Given the description of an element on the screen output the (x, y) to click on. 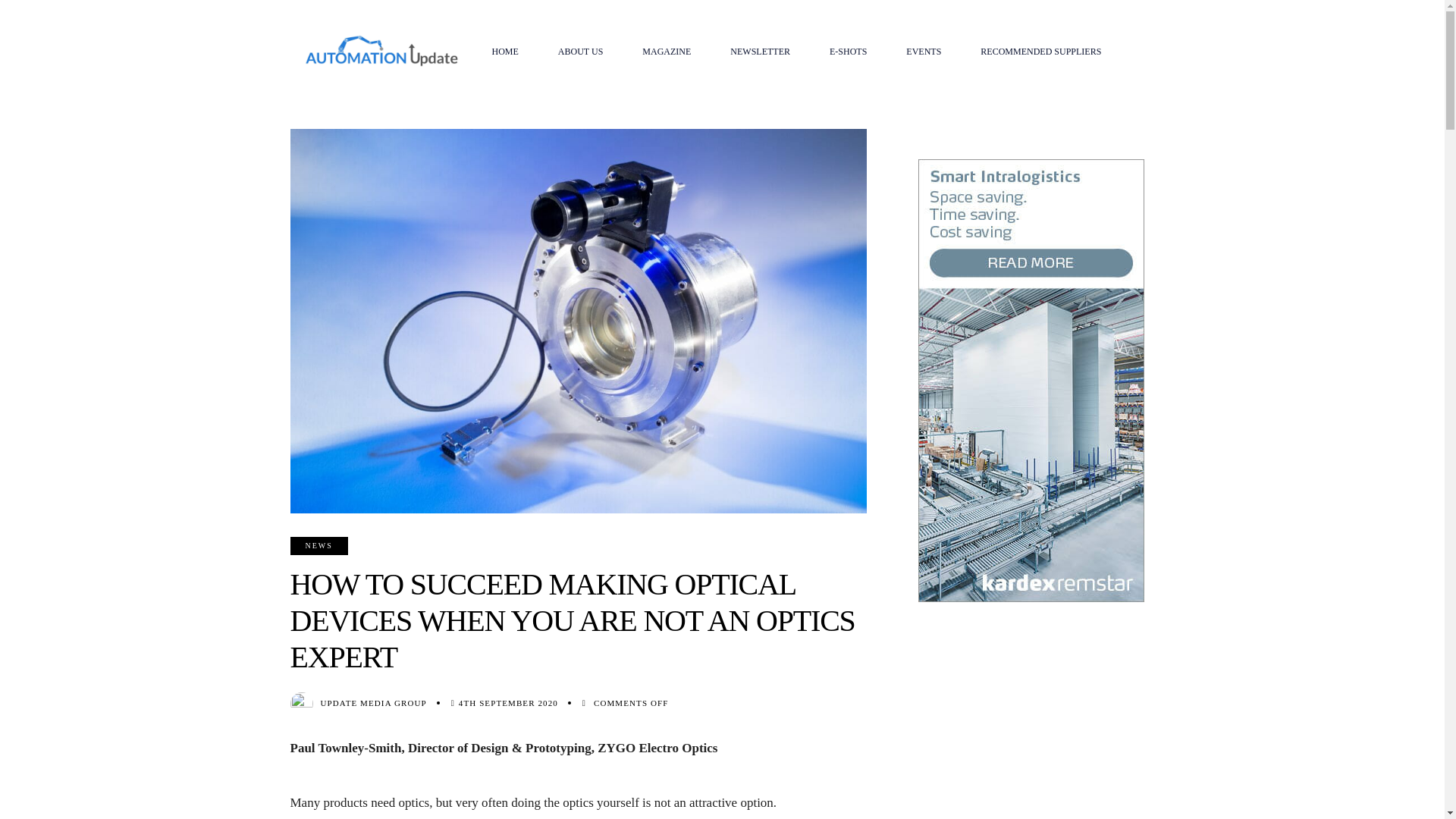
Automation Update (381, 51)
MAGAZINE (666, 51)
HOME (504, 51)
RECOMMENDED SUPPLIERS (1040, 51)
NEWS (318, 546)
EVENTS (923, 51)
ABOUT US (580, 51)
Posts by Update Media Group (373, 702)
UPDATE MEDIA GROUP (373, 702)
NEWSLETTER (759, 51)
